Given the description of an element on the screen output the (x, y) to click on. 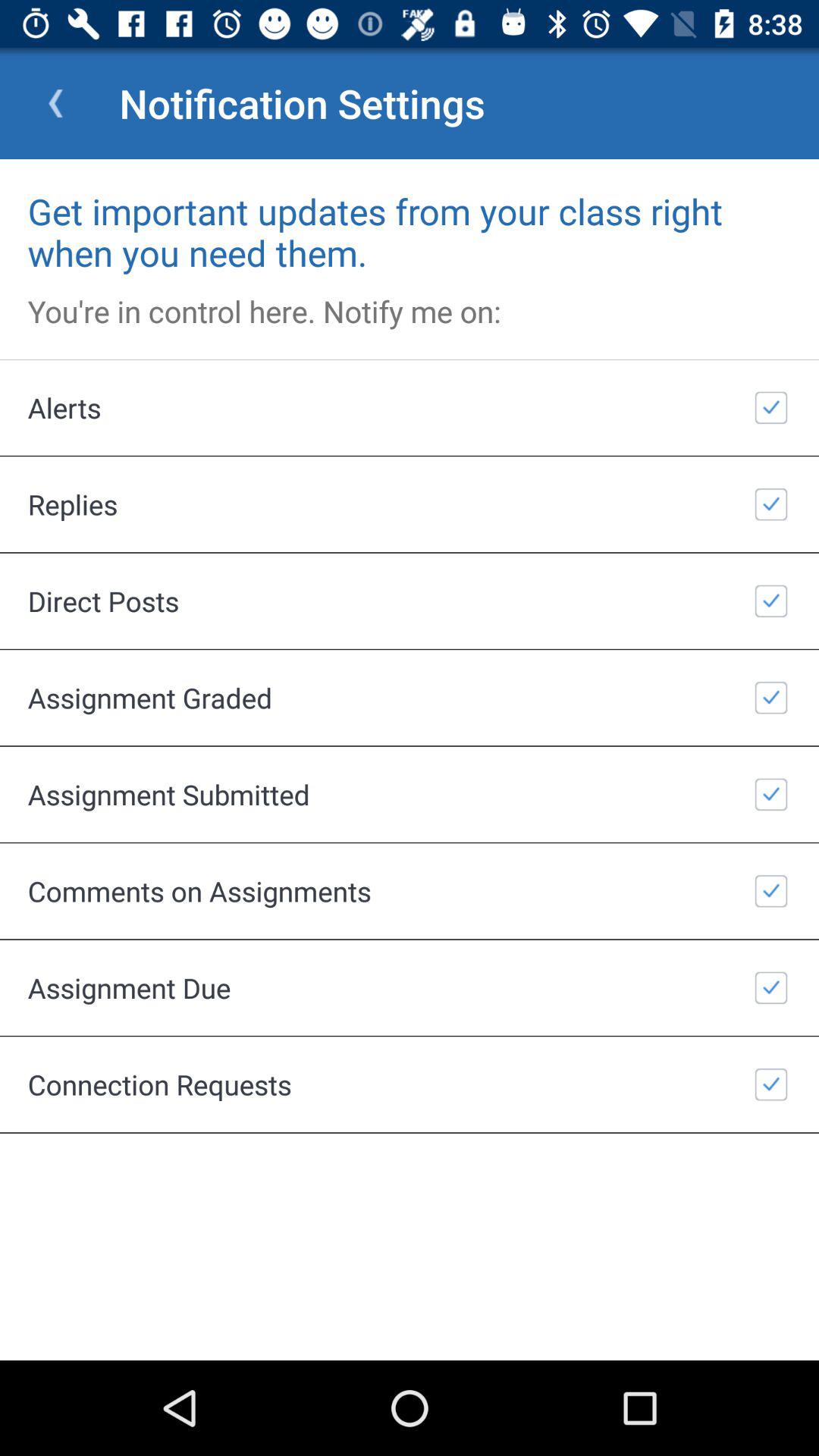
flip to assignment due (409, 987)
